Given the description of an element on the screen output the (x, y) to click on. 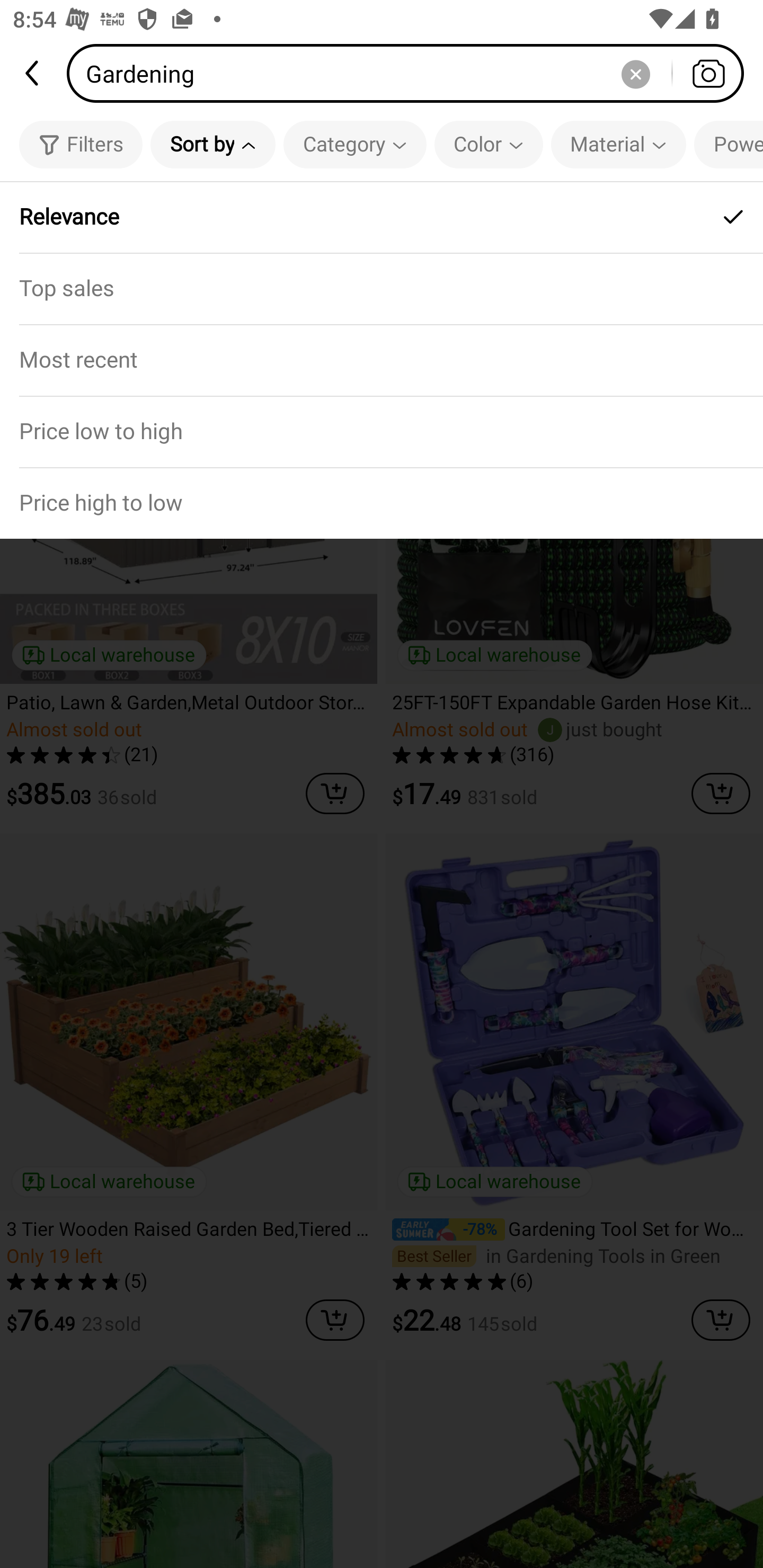
back (33, 72)
Gardening (411, 73)
Delete search history (635, 73)
Search by photo (708, 73)
Filters (80, 143)
Sort by (212, 143)
Category (354, 143)
Color (488, 143)
Material (617, 143)
Power Supply (728, 143)
Relevance (381, 216)
Top sales (381, 288)
Most recent (381, 359)
Price low to high (381, 431)
Price high to low (381, 503)
